Given the description of an element on the screen output the (x, y) to click on. 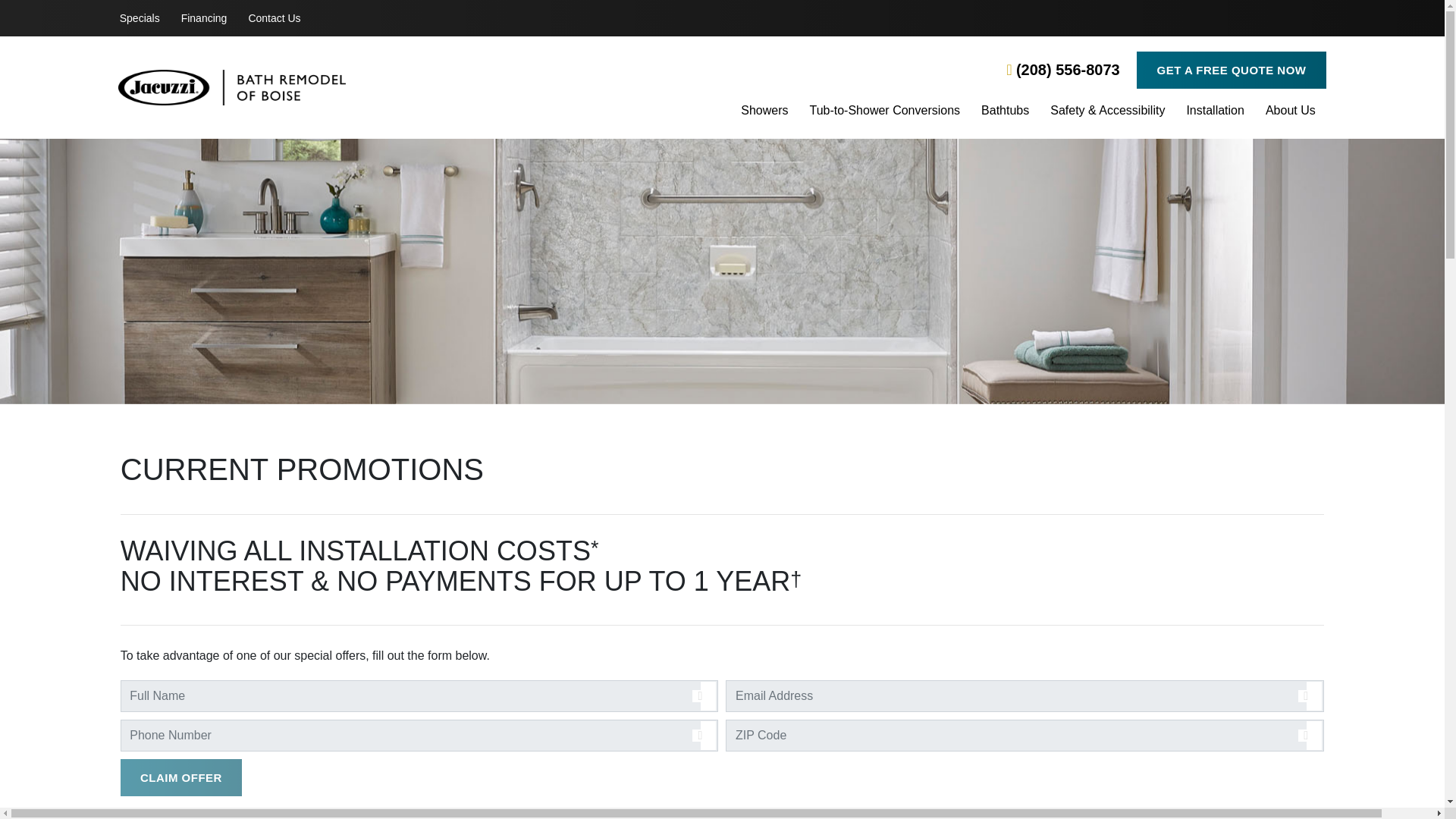
Showers (764, 112)
Contact Us (274, 18)
GET A FREE QUOTE NOW (1230, 69)
Financing (204, 18)
Installation (1215, 112)
Tub-to-Shower Conversions (884, 112)
Bathtubs (1005, 112)
Specials (139, 18)
Jacuzzi Bath Remodel of Boise (319, 87)
Claim Offer (180, 777)
